Given the description of an element on the screen output the (x, y) to click on. 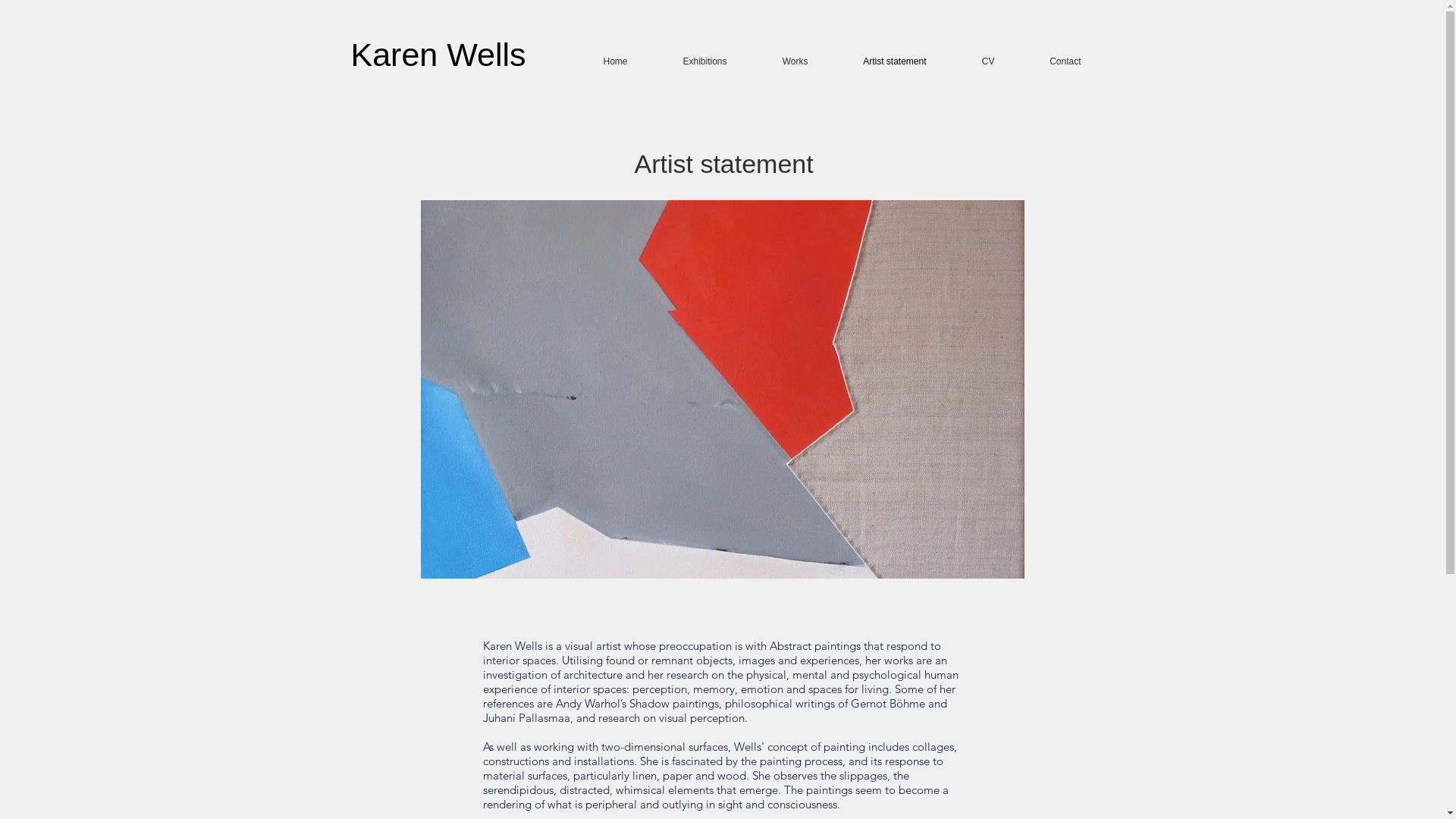
Artist statement Element type: text (879, 61)
Home Element type: text (599, 61)
CV Element type: text (972, 61)
Contact Element type: text (1050, 61)
